Given the description of an element on the screen output the (x, y) to click on. 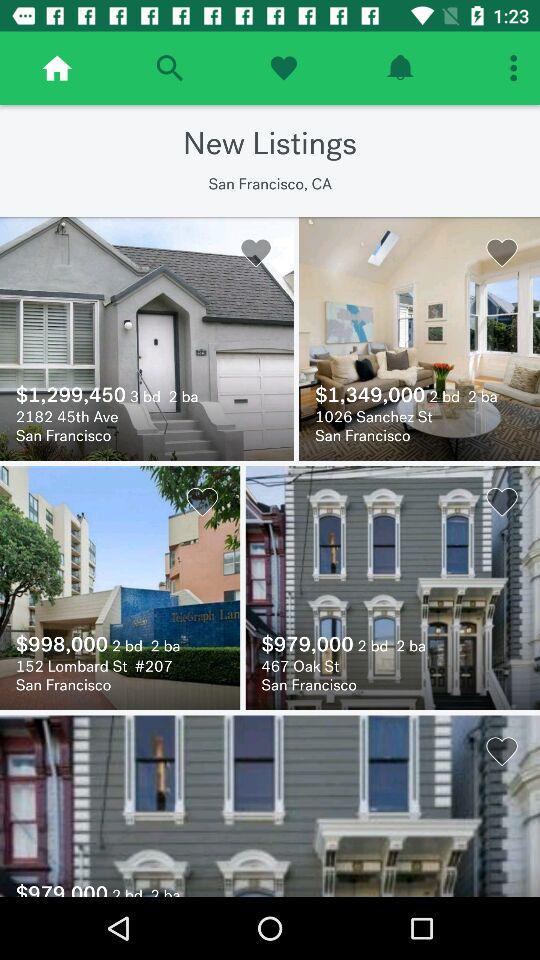
search properties (169, 68)
